Given the description of an element on the screen output the (x, y) to click on. 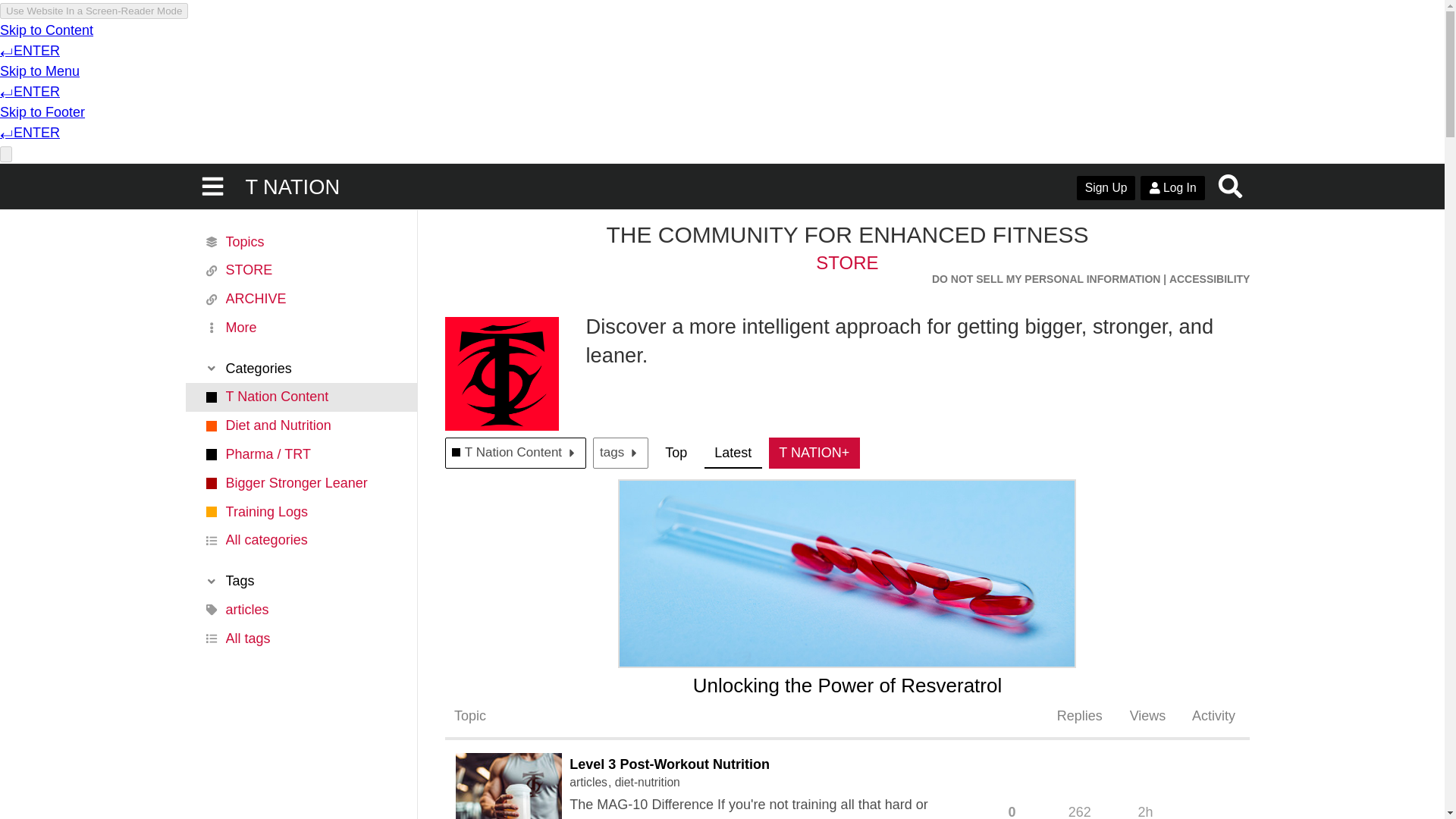
Bigger Stronger Leaner (300, 482)
DO NOT SELL MY PERSONAL INFORMATION (1045, 278)
Sidebar (213, 186)
Sign Up (1106, 187)
Topics (300, 241)
Log In (1172, 187)
All categories (300, 540)
Top (676, 452)
T NATION (291, 186)
